Given the description of an element on the screen output the (x, y) to click on. 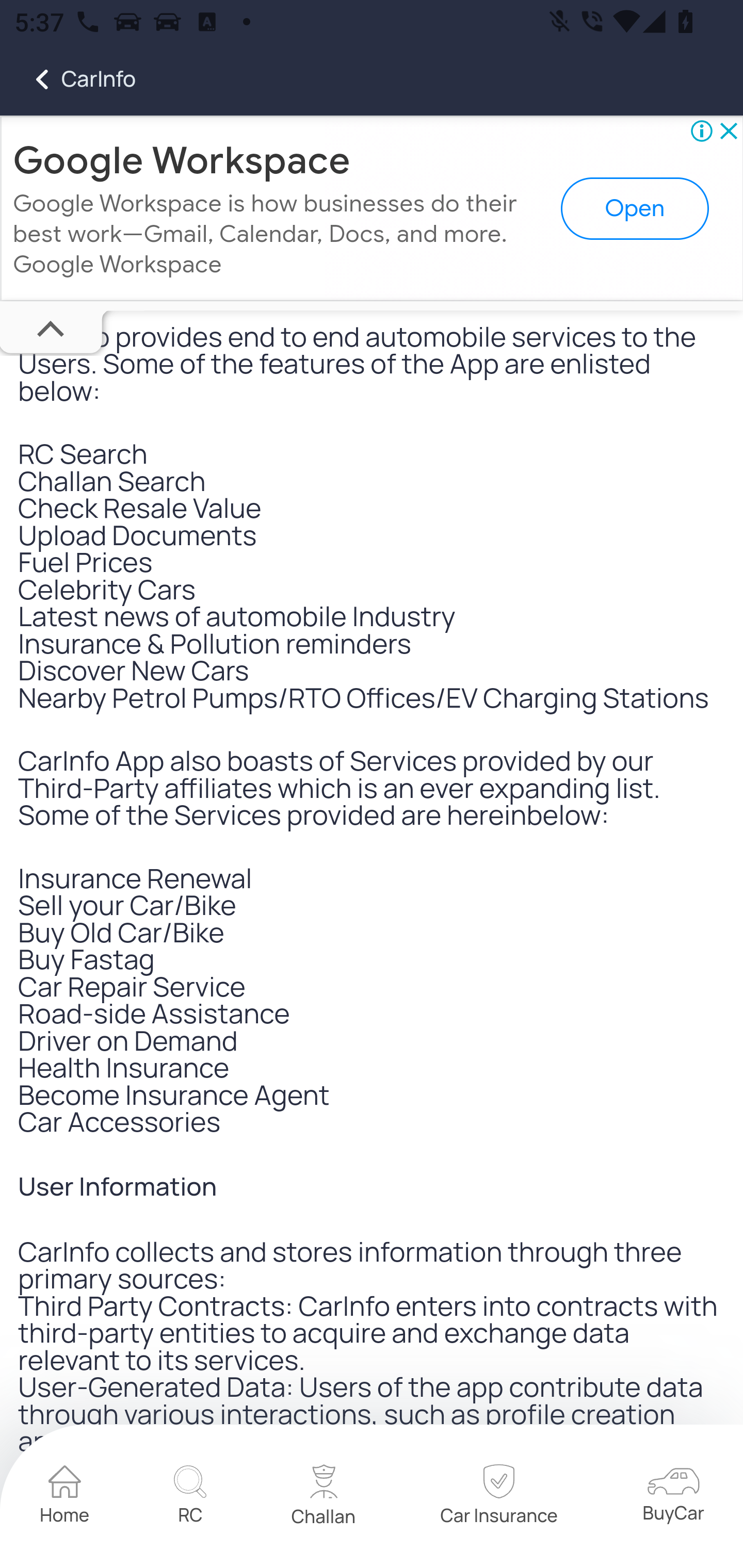
CarInfo (67, 79)
Google Workspace (182, 161)
Open (634, 209)
home Challan home Challan (323, 1497)
home Car Insurance home Car Insurance (497, 1497)
home Home home Home (64, 1498)
home RC home RC (190, 1498)
home BuyCar home BuyCar (672, 1497)
